Given the description of an element on the screen output the (x, y) to click on. 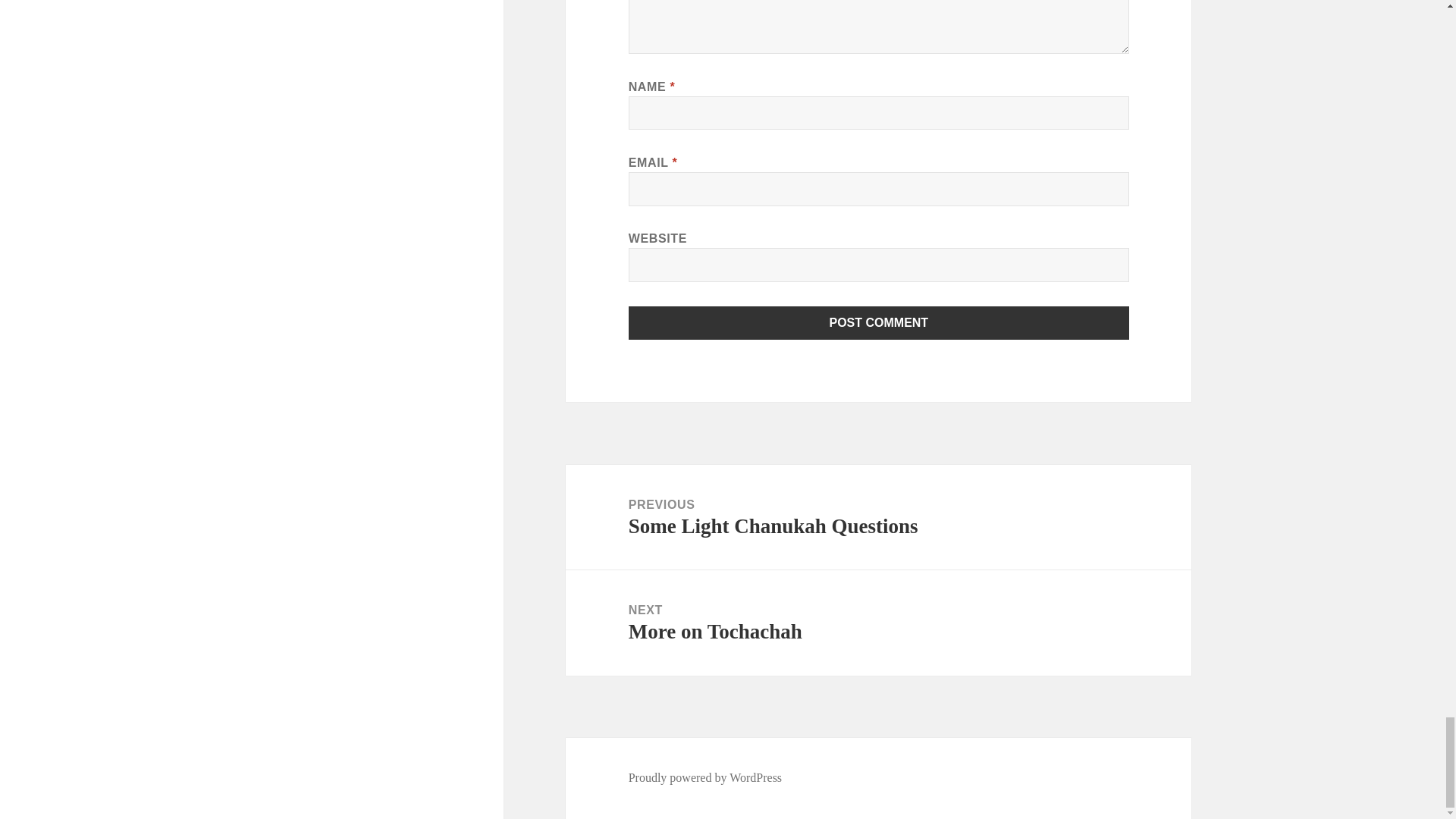
Post Comment (878, 322)
Proudly powered by WordPress (878, 622)
Post Comment (704, 777)
